Given the description of an element on the screen output the (x, y) to click on. 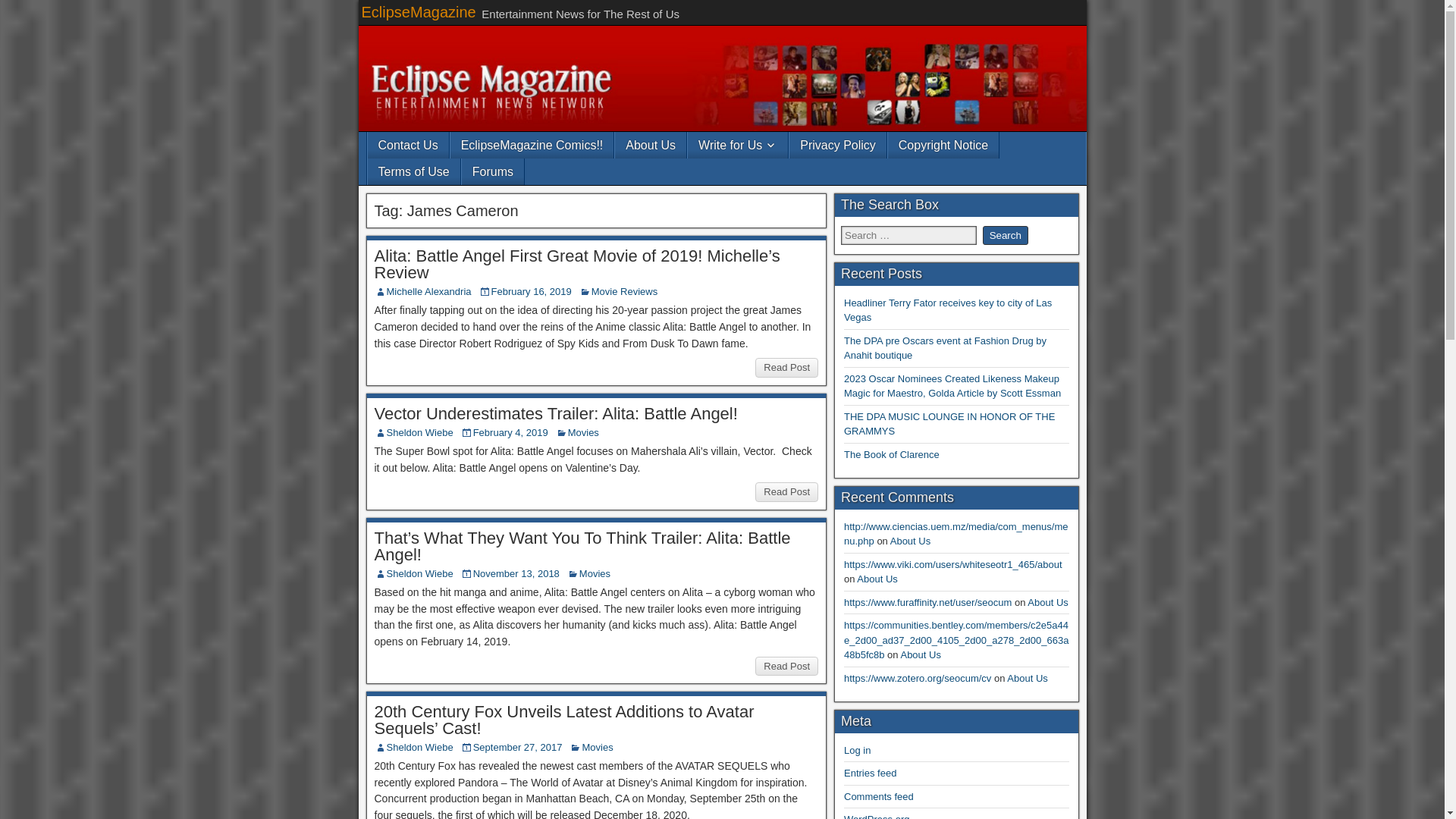
Vector Underestimates Trailer: Alita: Battle Angel! (556, 413)
Read Post (786, 367)
Sheldon Wiebe (419, 747)
Movies (596, 747)
Read Post (786, 492)
February 4, 2019 (510, 432)
Movies (582, 432)
Movies (594, 573)
About Us (649, 144)
Terms of Use (413, 171)
